Given the description of an element on the screen output the (x, y) to click on. 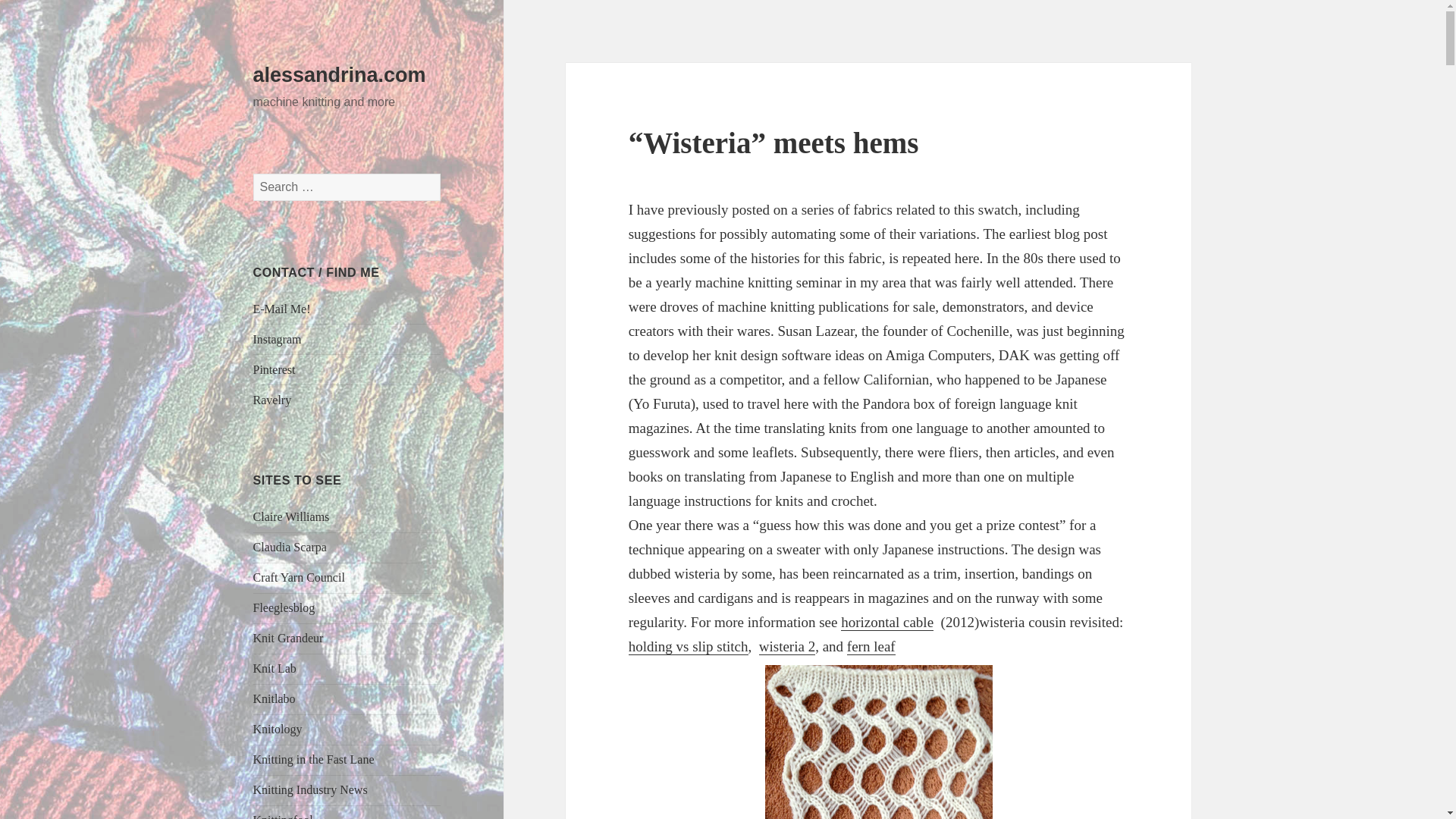
Knit Lab (275, 667)
more shared mk, hk information (272, 399)
Knitting Industry News (310, 789)
Italian blog, extensive information on machine knitting  (289, 546)
machine knitting resource (291, 516)
Knitting in the Fast Lane (313, 758)
fashion knitwear and more (288, 637)
knit patterns and shared inspirations (275, 667)
Ravelry (272, 399)
compendium of hand knitting stitches and much more (283, 816)
Claire Williams (291, 516)
Knittingfool (283, 816)
